Given the description of an element on the screen output the (x, y) to click on. 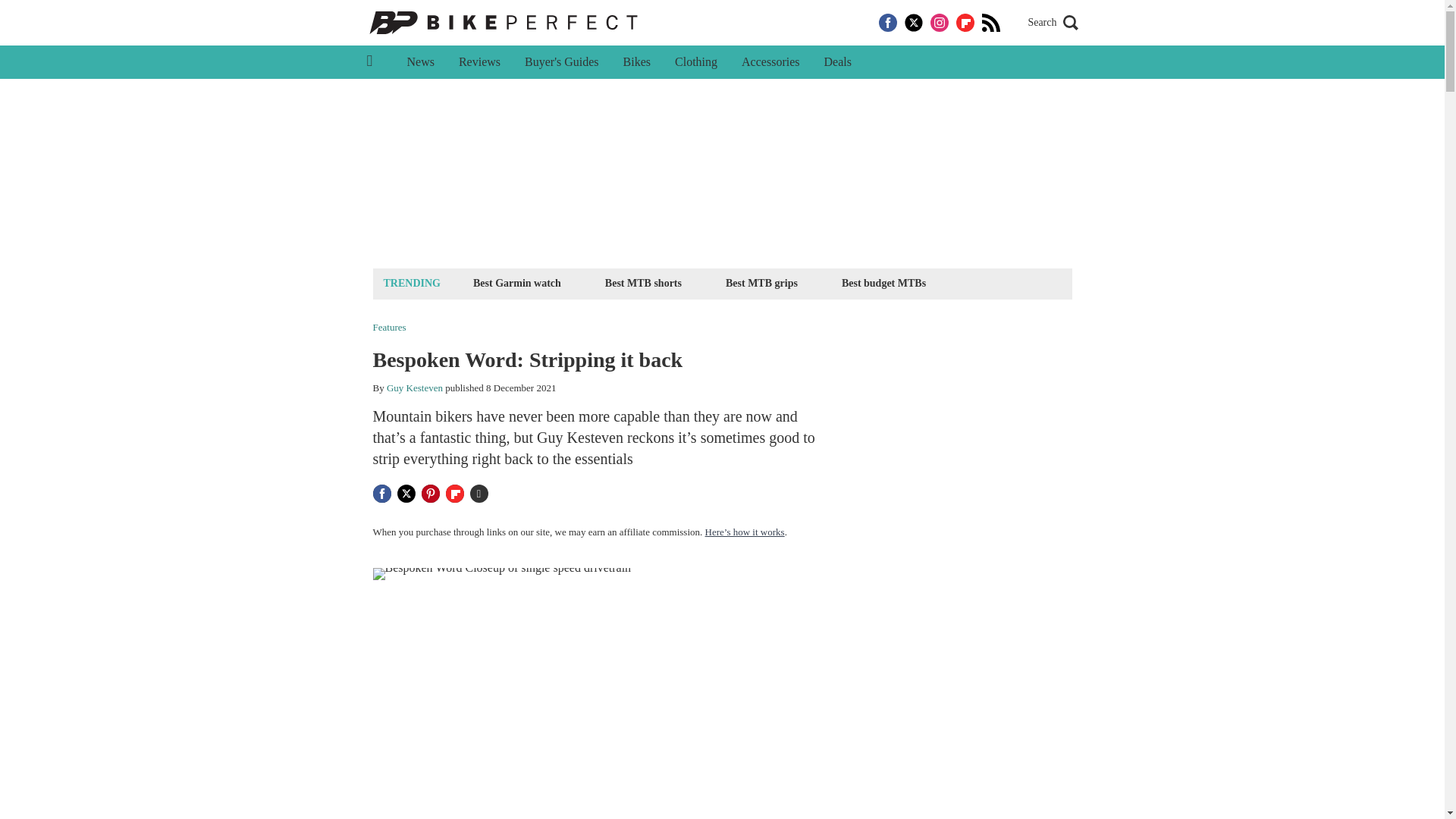
Best budget MTBs (883, 282)
Deals (836, 61)
Best MTB shorts (643, 282)
Features (389, 327)
Bikes (636, 61)
Best Garmin watch (516, 282)
Accessories (769, 61)
Best MTB grips (761, 282)
Clothing (695, 61)
Guy Kesteven (414, 387)
Buyer's Guides (561, 61)
News (419, 61)
Reviews (479, 61)
